Given the description of an element on the screen output the (x, y) to click on. 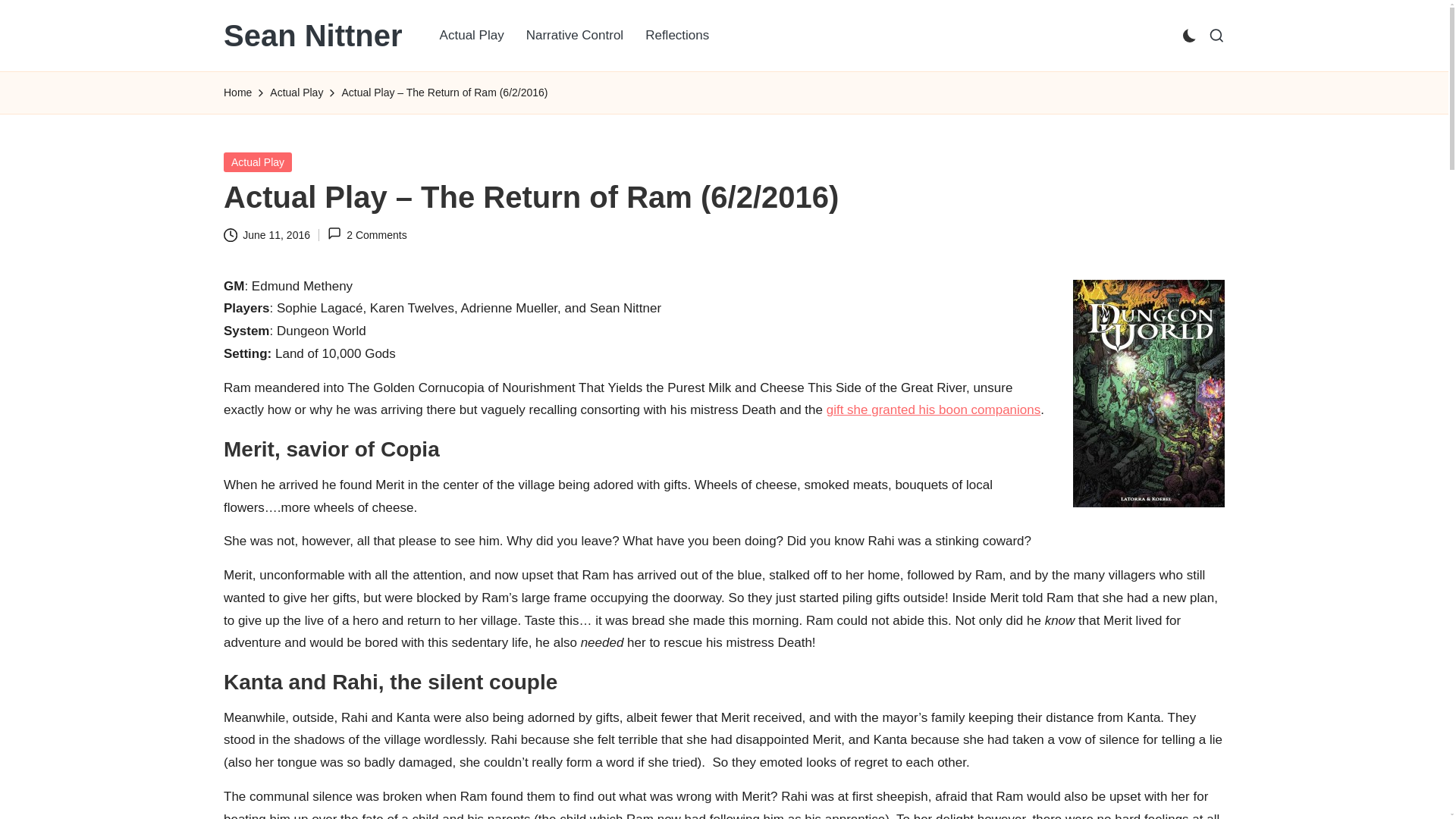
Home (237, 92)
Sean Nittner (313, 35)
Reflections (676, 35)
Actual Play (258, 161)
Narrative Control (574, 35)
Actual Play (472, 35)
Actual Play (296, 92)
gift she granted his boon companions (934, 409)
2 Comments (367, 235)
